Given the description of an element on the screen output the (x, y) to click on. 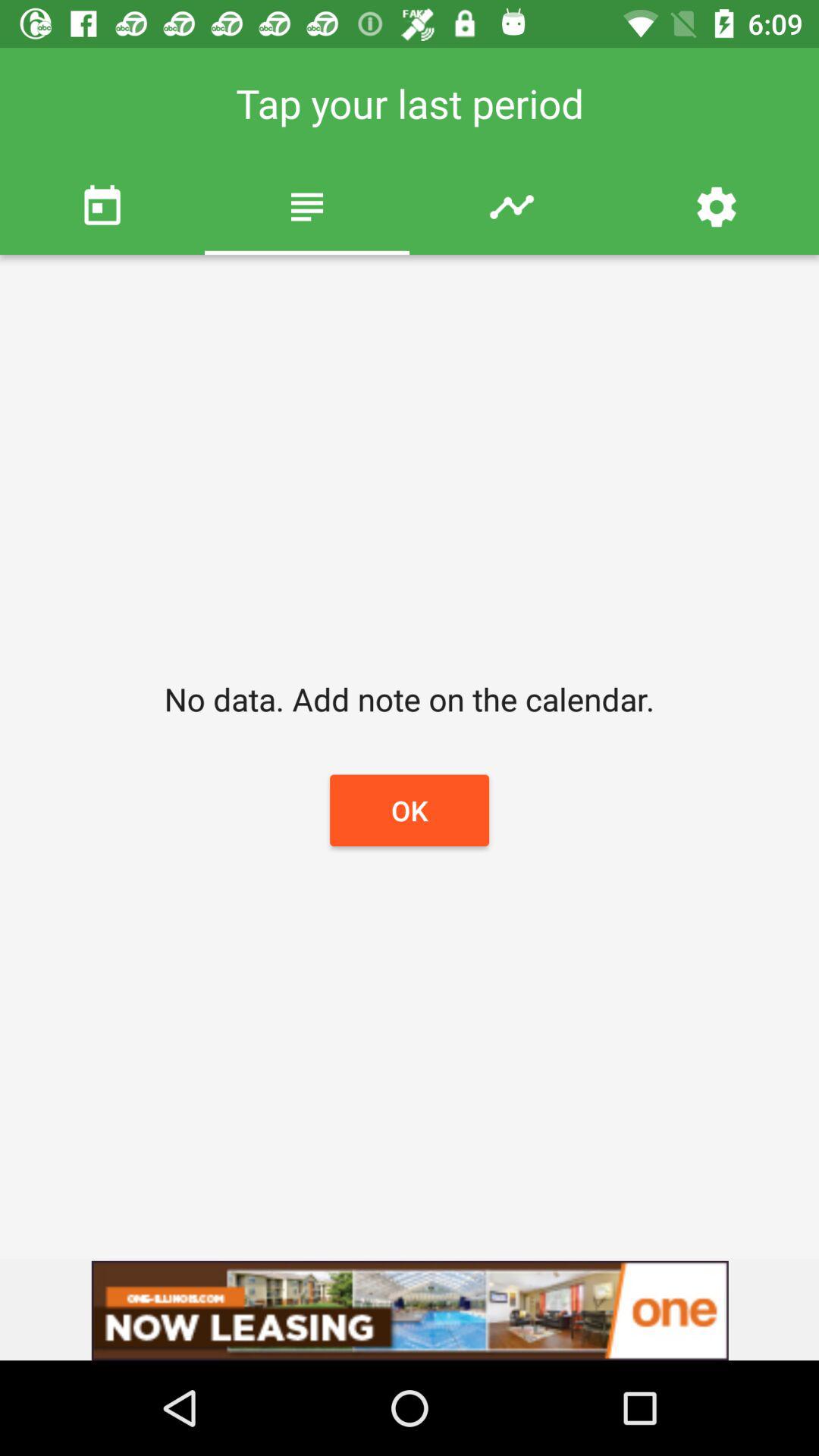
share the article (409, 1310)
